Given the description of an element on the screen output the (x, y) to click on. 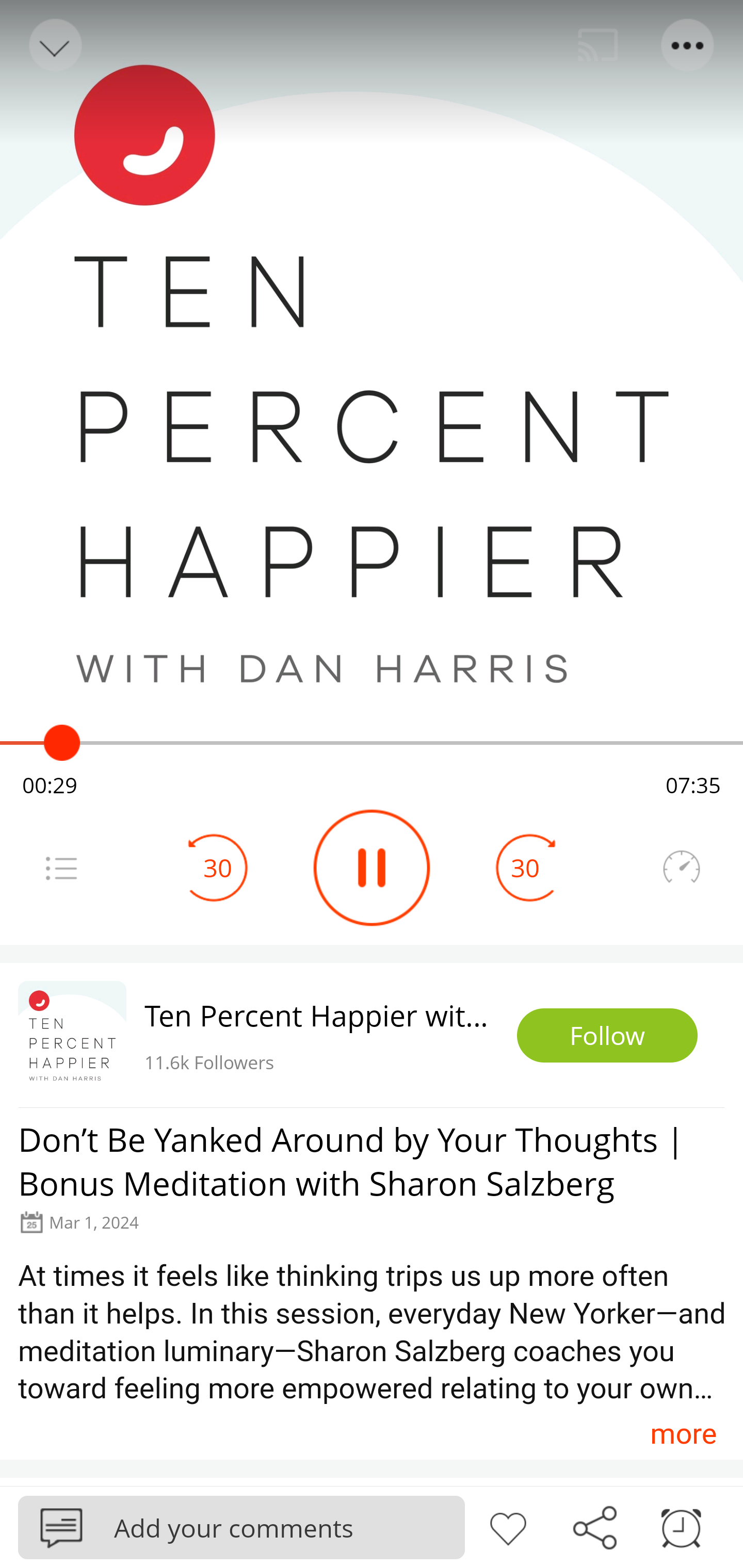
Back (53, 45)
Cast. Disconnected (597, 45)
Menu (688, 45)
Play (371, 867)
30 Seek Backward (217, 867)
30 Seek Forward (525, 867)
Menu (60, 867)
Speedometer (681, 867)
Follow (607, 1035)
more (682, 1432)
Like (508, 1526)
Share (594, 1526)
Sleep timer (681, 1526)
Podbean Add your comments (241, 1526)
